Given the description of an element on the screen output the (x, y) to click on. 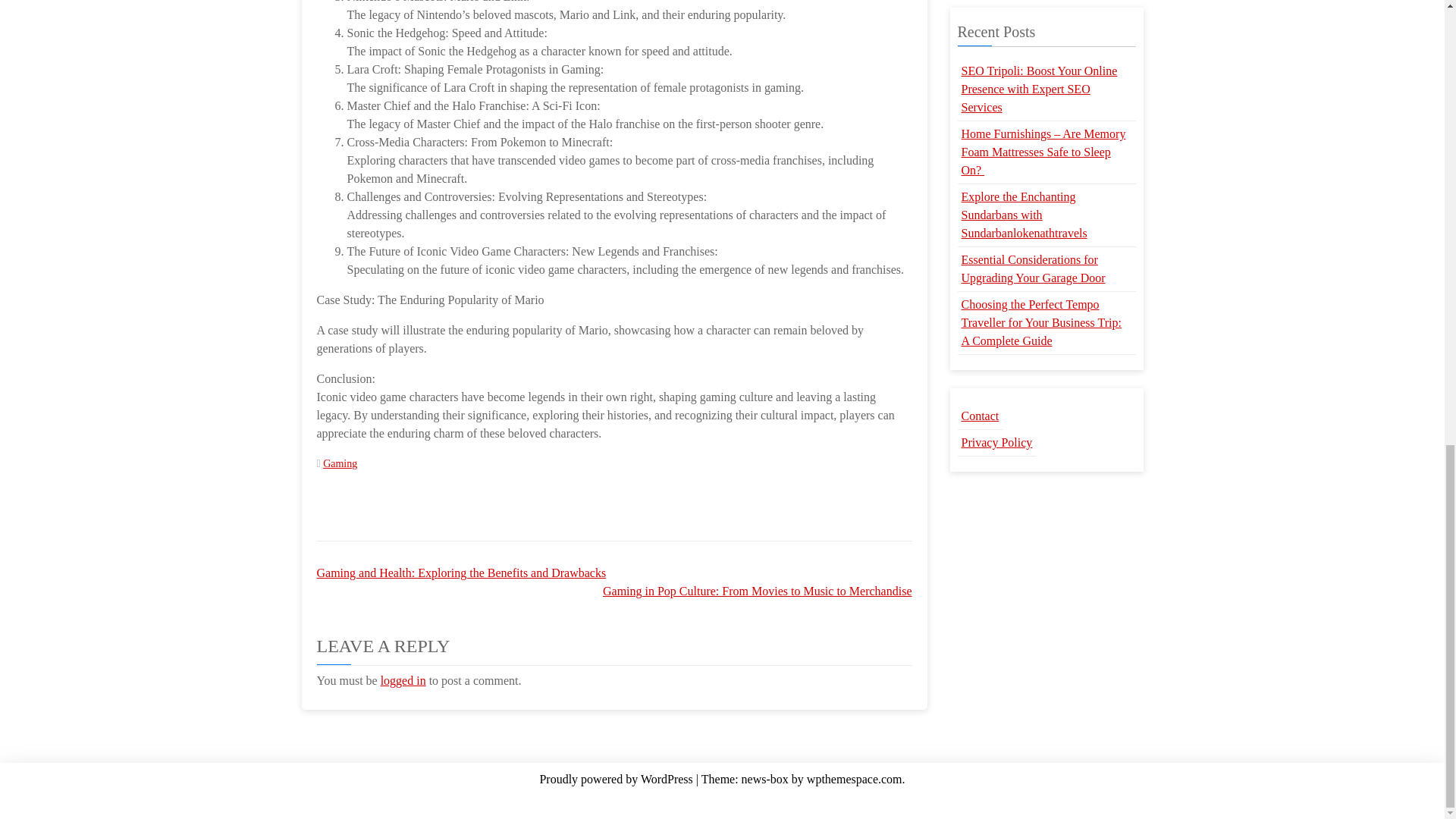
Gaming (562, 801)
wpthemespace.com (854, 779)
Gaming in Pop Culture: From Movies to Music to Merchandise (757, 590)
Lifestyle (609, 801)
logged in (403, 680)
Proudly powered by WordPress (616, 779)
Business (658, 801)
Technology (880, 801)
Finance (828, 801)
Gaming (339, 463)
Entertainment (770, 801)
Gaming and Health: Exploring the Benefits and Drawbacks (462, 572)
Education (708, 801)
